Given the description of an element on the screen output the (x, y) to click on. 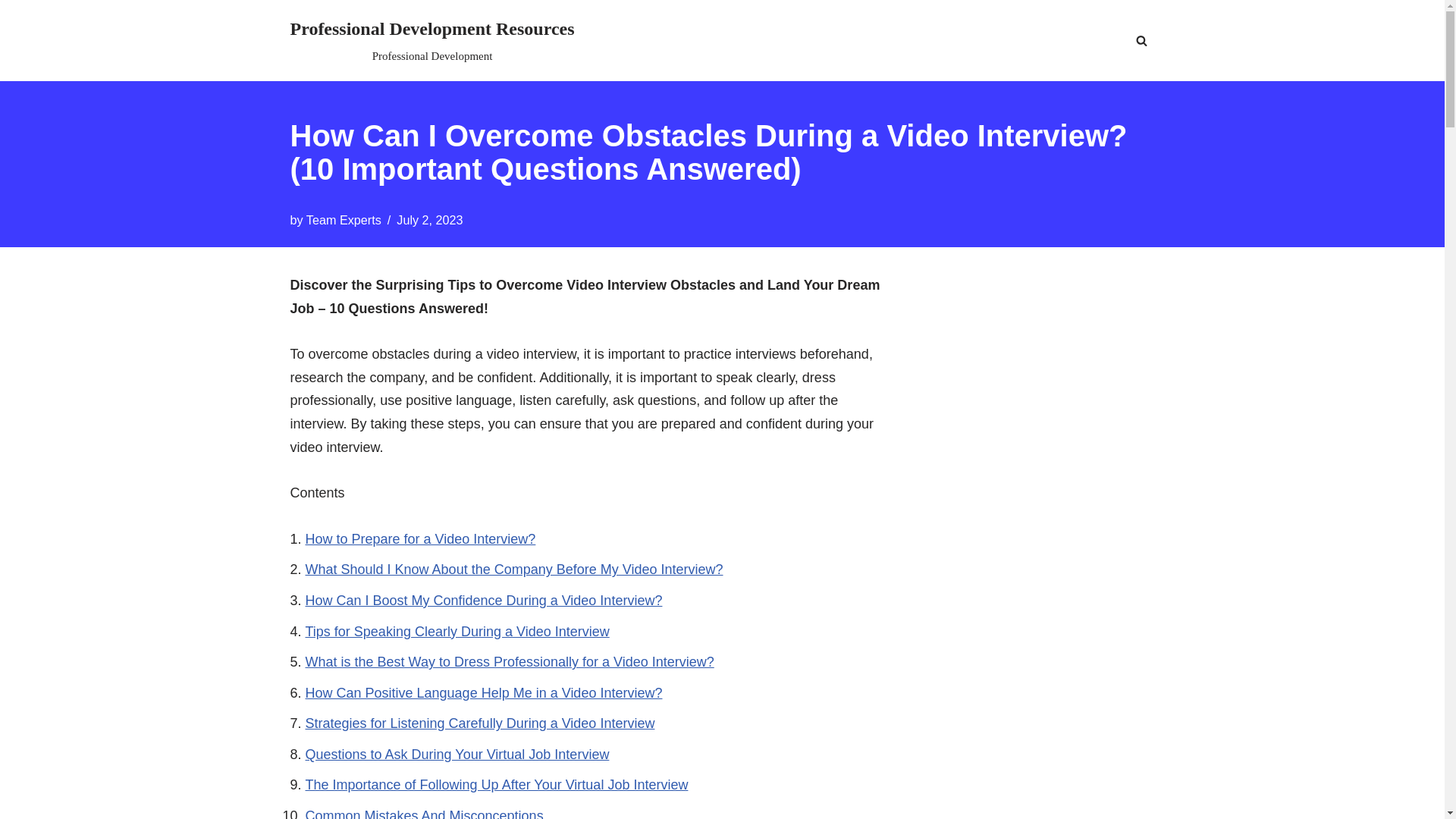
Skip to content (11, 31)
How Can Positive Language Help Me in a Video Interview? (483, 693)
Common Mistakes And Misconceptions (423, 813)
Questions to Ask During Your Virtual Job Interview (456, 754)
How Can I Boost My Confidence During a Video Interview? (483, 600)
How to Prepare for a Video Interview? (419, 539)
Team Experts (343, 219)
Tips for Speaking Clearly During a Video Interview (456, 631)
Strategies for Listening Carefully During a Video Interview (478, 723)
Posts by Team Experts (431, 40)
